Given the description of an element on the screen output the (x, y) to click on. 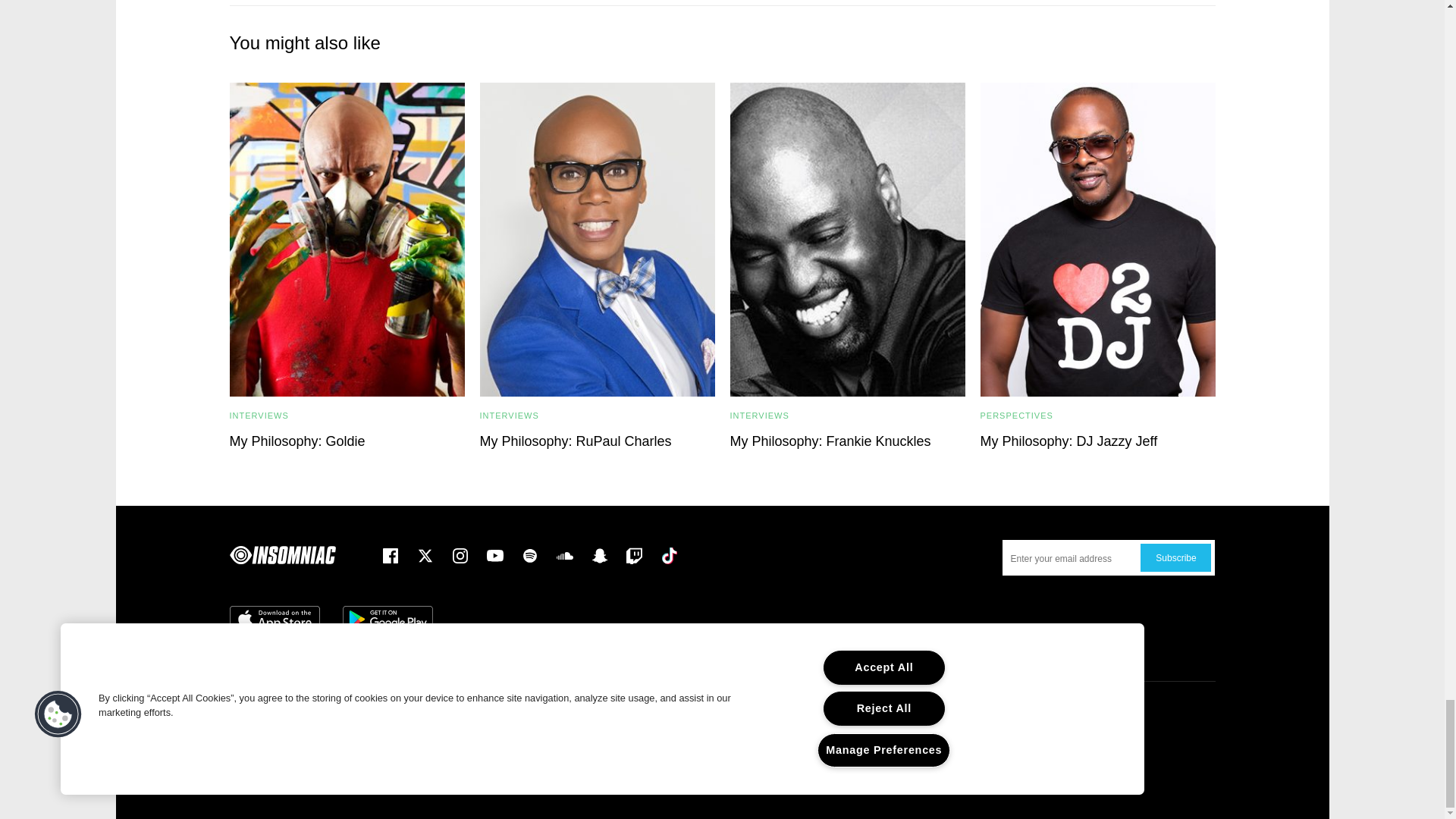
Back To Top (721, 680)
